Given the description of an element on the screen output the (x, y) to click on. 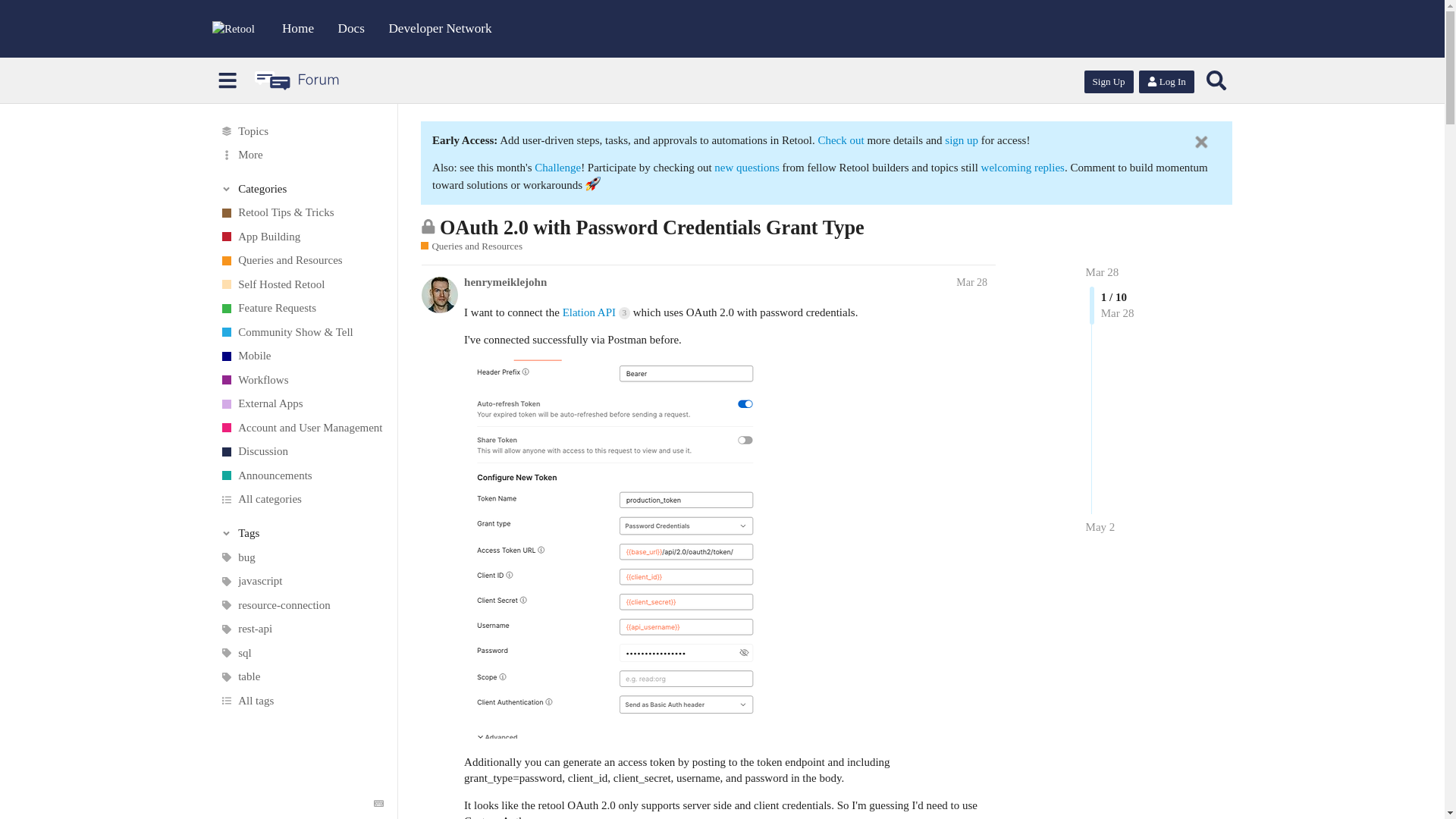
Account and User Management (301, 428)
Developer Network (439, 28)
All topics (301, 130)
Workflows (301, 380)
table (301, 677)
new questions (746, 167)
Topics (301, 130)
All tags (301, 700)
Check out (841, 140)
Home (298, 28)
Retool (233, 28)
Toggle section (301, 532)
All categories (301, 499)
More (301, 155)
